Given the description of an element on the screen output the (x, y) to click on. 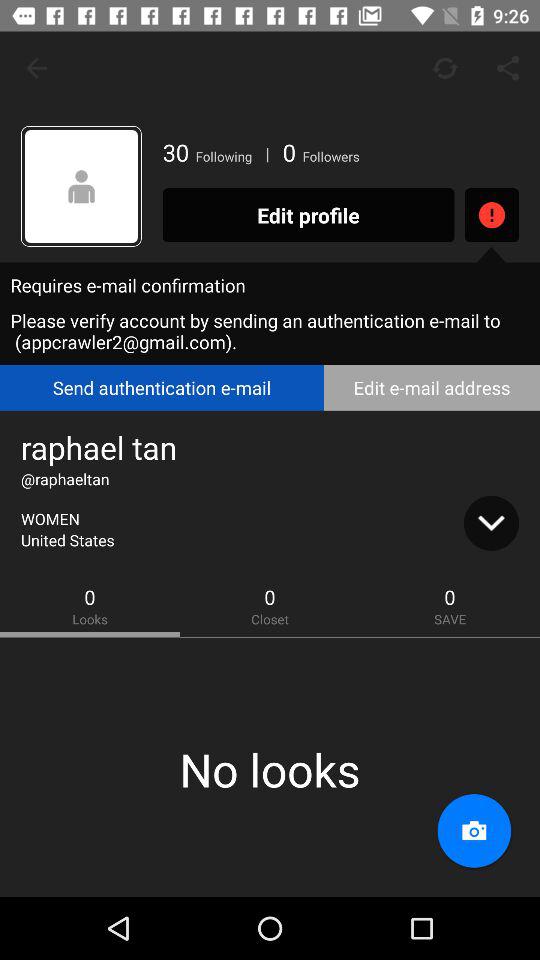
profile picture (81, 186)
